Given the description of an element on the screen output the (x, y) to click on. 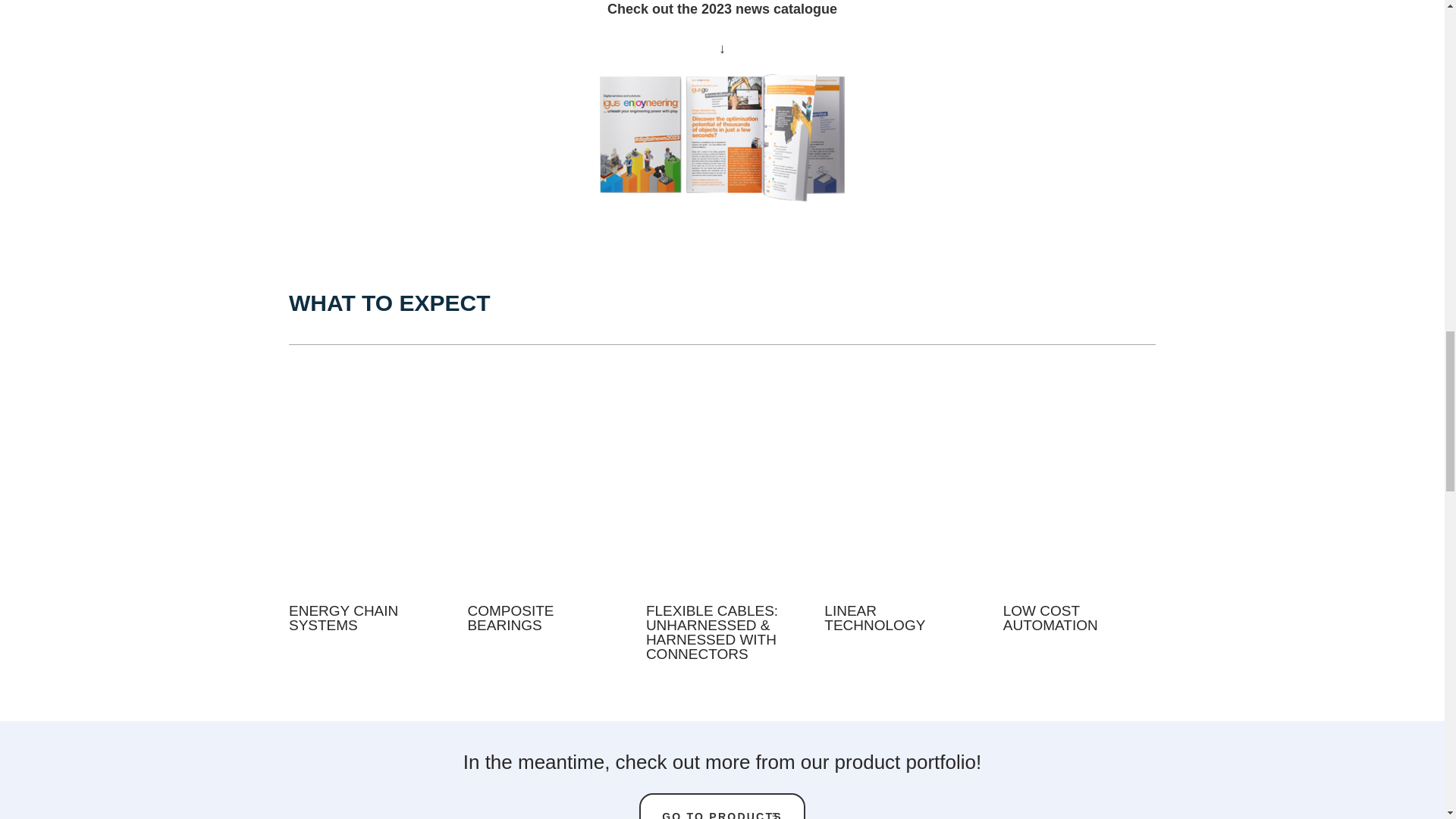
Check out the 2023 news catalogue (722, 8)
enjoyneering digital image-Gjenopprettet (721, 137)
ENERGY CHAIN SYSTEMS (342, 617)
